Given the description of an element on the screen output the (x, y) to click on. 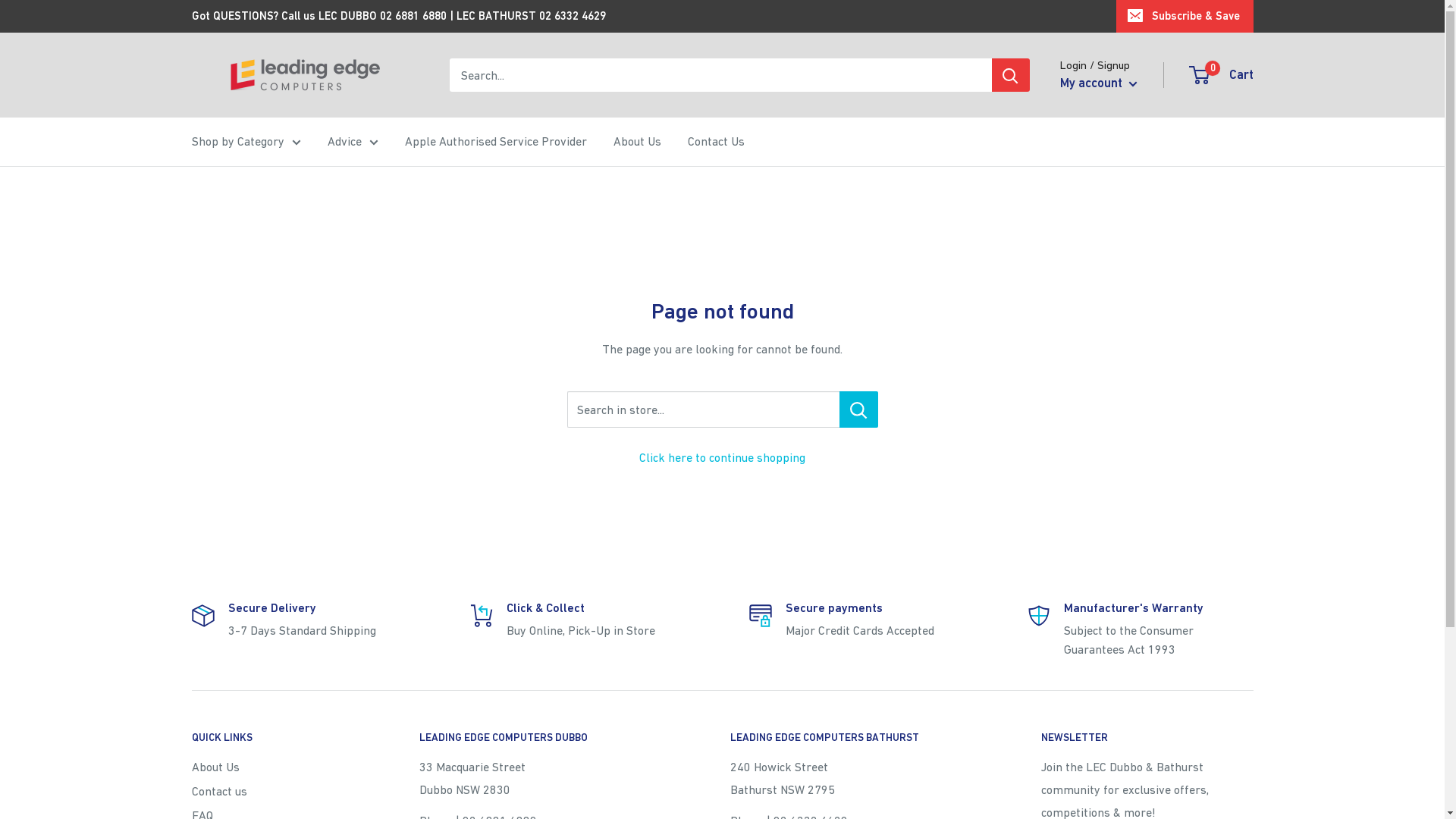
Contact Us Element type: text (715, 141)
Subscribe & Save Element type: text (1184, 15)
Advice Element type: text (352, 141)
LEADING EDGE COMPUTERS BATHURST Element type: text (858, 737)
LEADING EDGE COMPUTERS DUBBO Element type: text (547, 737)
Apple Authorised Service Provider Element type: text (495, 141)
Shop by Category Element type: text (245, 141)
QUICK LINKS Element type: text (278, 737)
Click here to continue shopping Element type: text (722, 457)
0
Cart Element type: text (1221, 74)
Contact us Element type: text (278, 790)
About Us Element type: text (636, 141)
About Us Element type: text (278, 766)
My account Element type: text (1098, 83)
